Given the description of an element on the screen output the (x, y) to click on. 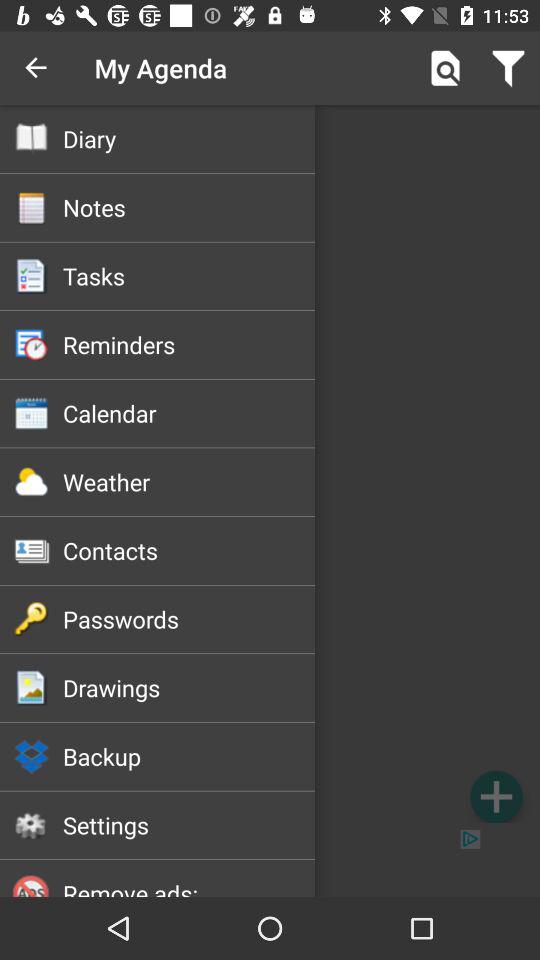
tap the item above the drawings (188, 619)
